Given the description of an element on the screen output the (x, y) to click on. 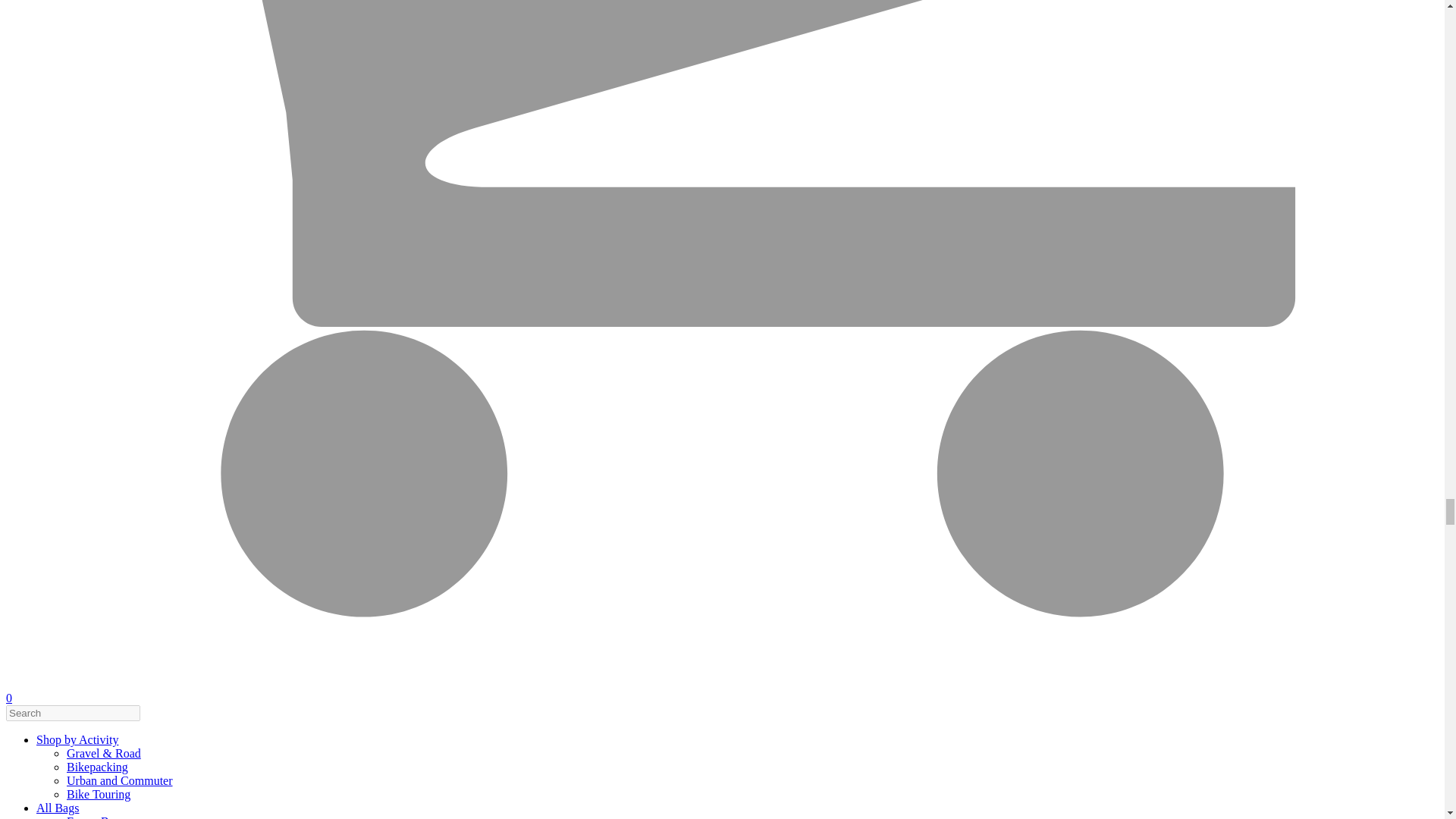
Frame Bags (95, 816)
Urban and Commuter (119, 780)
Search for: (72, 713)
Shop by Activity (76, 739)
All Bags (57, 807)
Bike Touring (98, 793)
Bikepacking (97, 766)
